Given the description of an element on the screen output the (x, y) to click on. 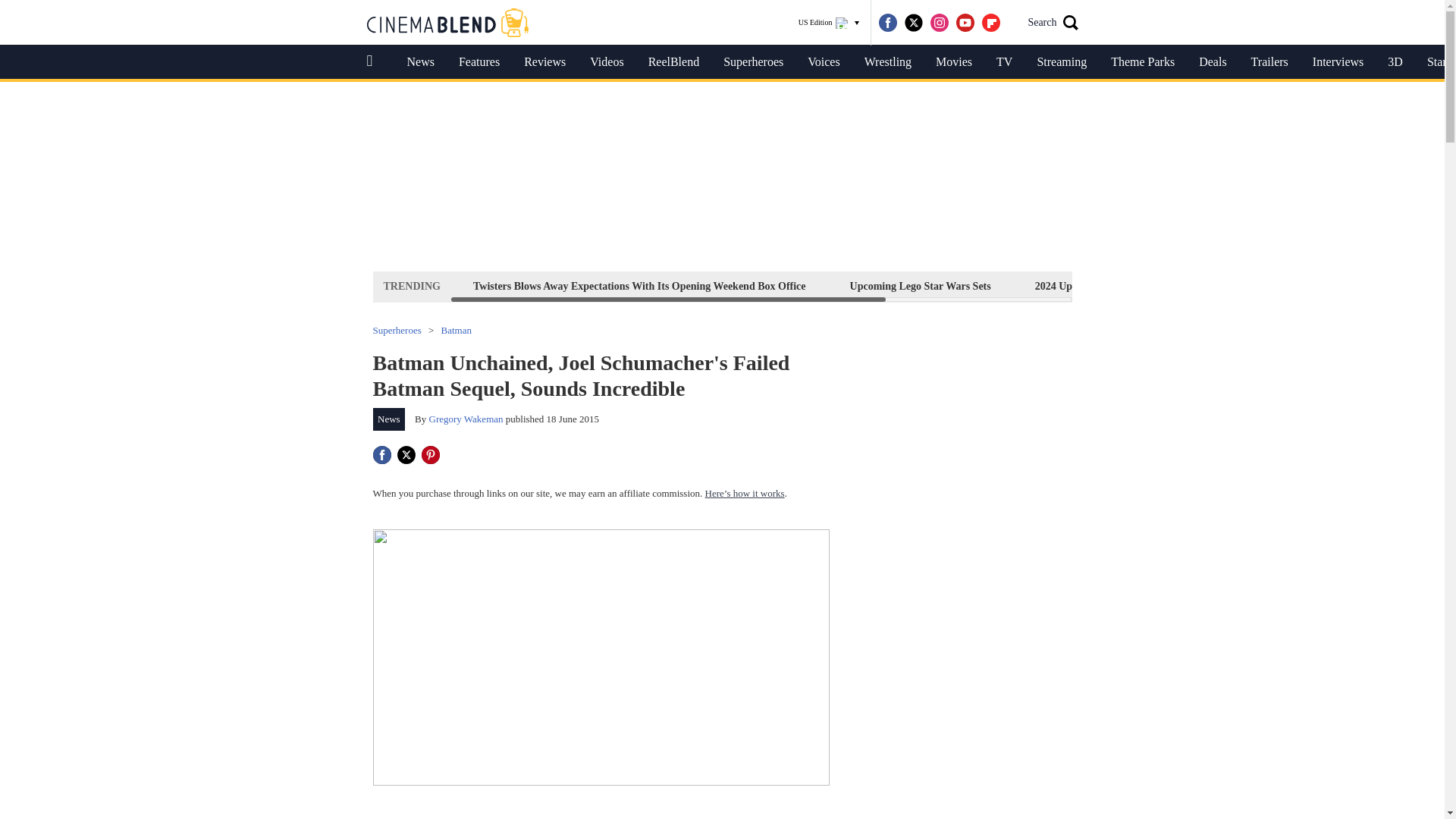
Interviews (1337, 61)
3D (1395, 61)
Wrestling (887, 61)
Batman (456, 329)
100 Best Sitcoms Of All Time (1250, 286)
Trailers (1269, 61)
Movies (953, 61)
Voices (822, 61)
Features (479, 61)
Superheroes (752, 61)
Videos (606, 61)
Streaming (1062, 61)
Superheroes (397, 329)
Reviews (545, 61)
